Given the description of an element on the screen output the (x, y) to click on. 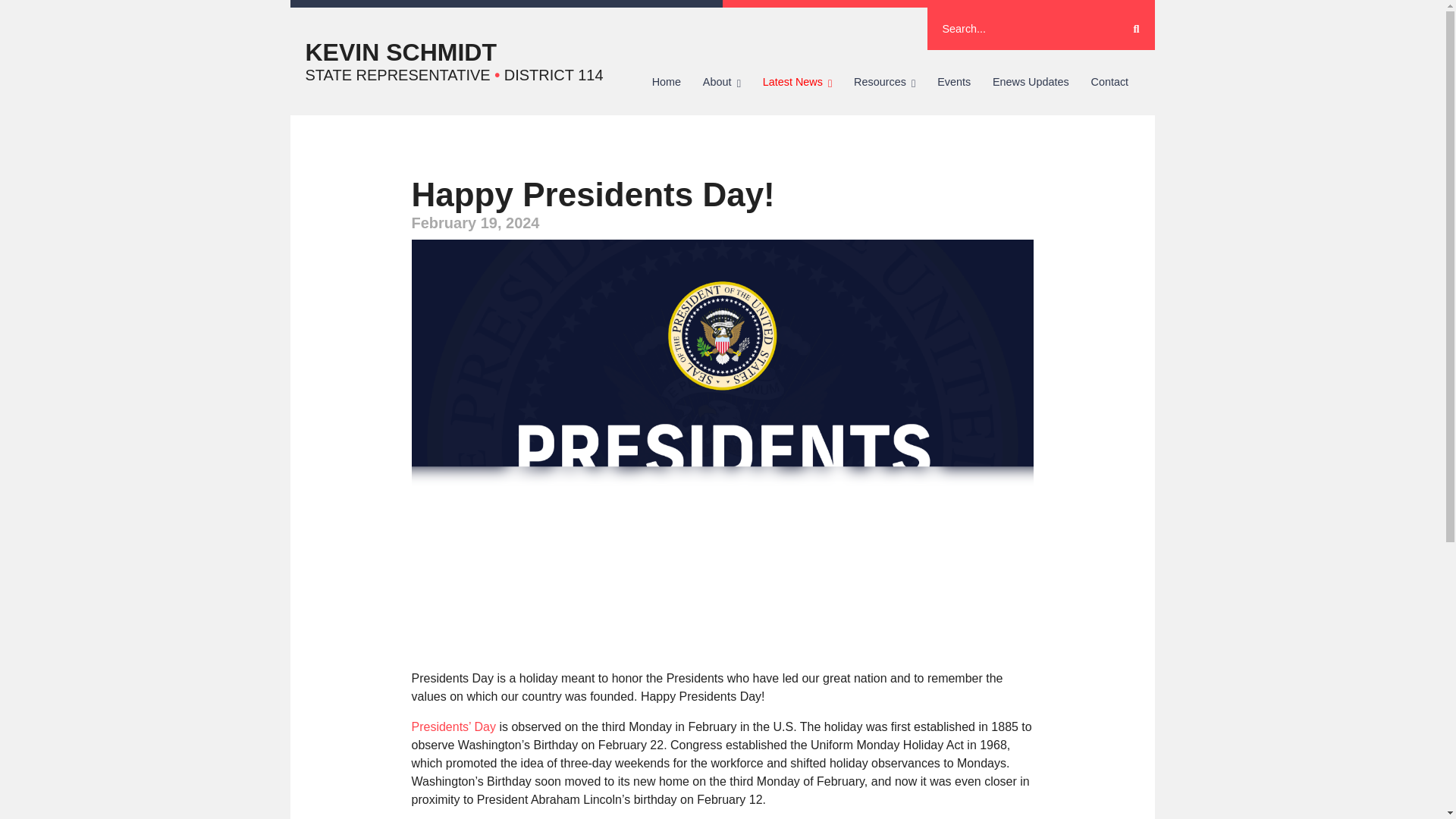
Resources (884, 82)
Home (665, 82)
About (721, 82)
Contact (1109, 82)
Enews Updates (1030, 82)
Events (953, 82)
Latest News (797, 82)
